Given the description of an element on the screen output the (x, y) to click on. 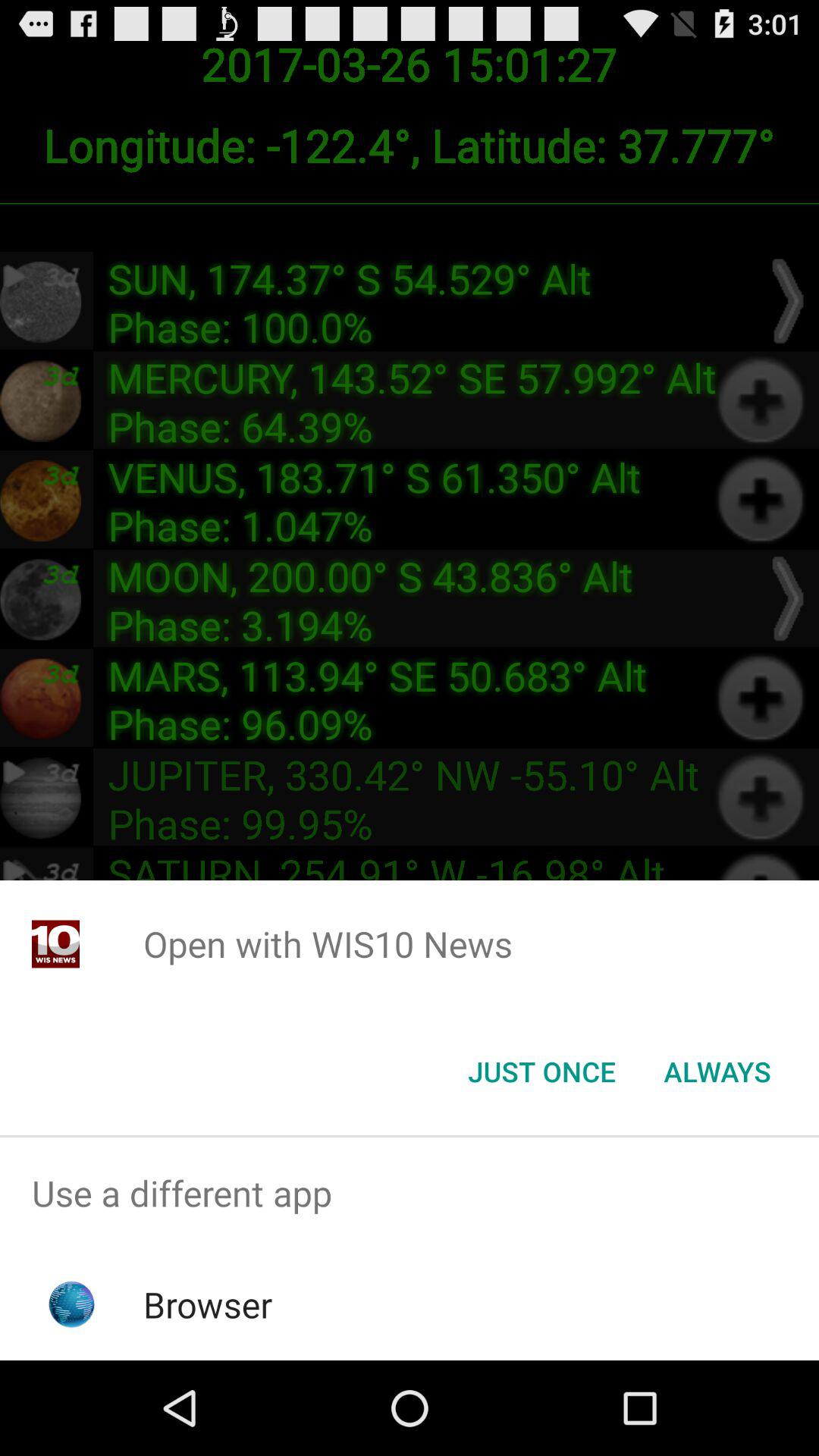
press the just once (541, 1071)
